Given the description of an element on the screen output the (x, y) to click on. 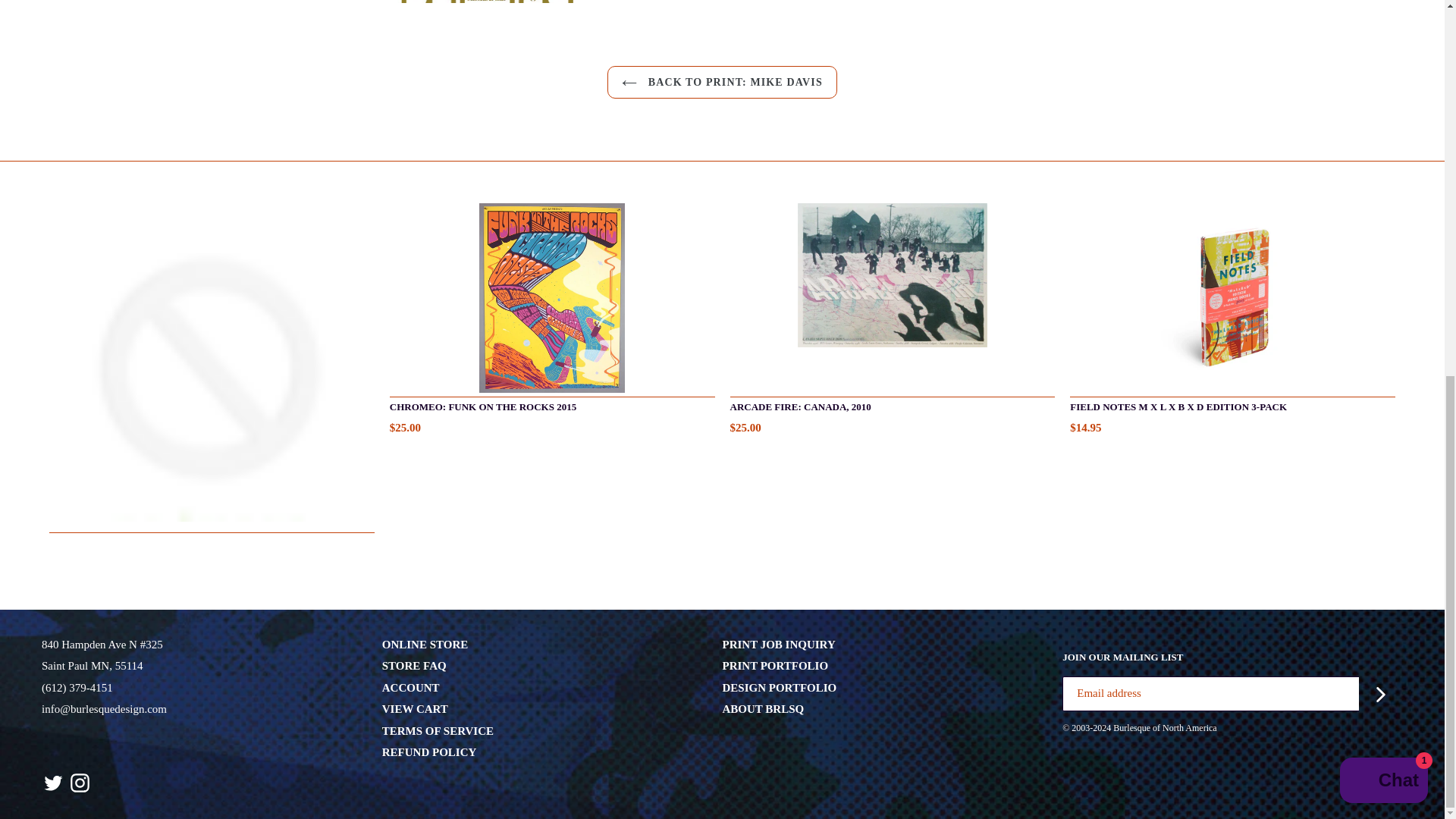
BACK TO PRINT: MIKE DAVIS (722, 82)
ONLINE STORE (424, 644)
Burlesque of North America on Twitter (53, 782)
STORE FAQ (413, 665)
Burlesque of North America on Instagram (79, 782)
Shopify online store chat (1383, 88)
